Given the description of an element on the screen output the (x, y) to click on. 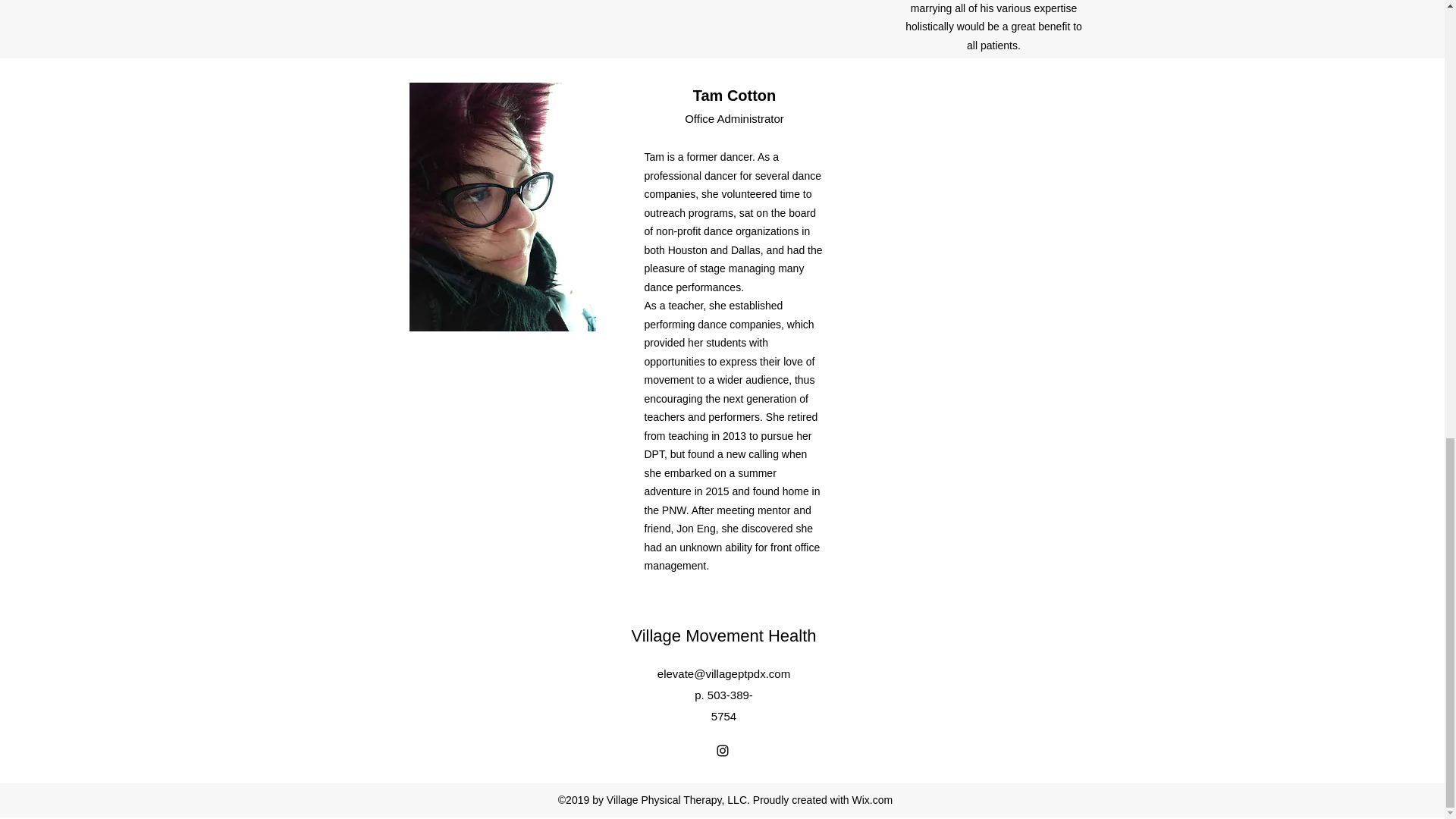
Village Movement Health (722, 635)
